Given the description of an element on the screen output the (x, y) to click on. 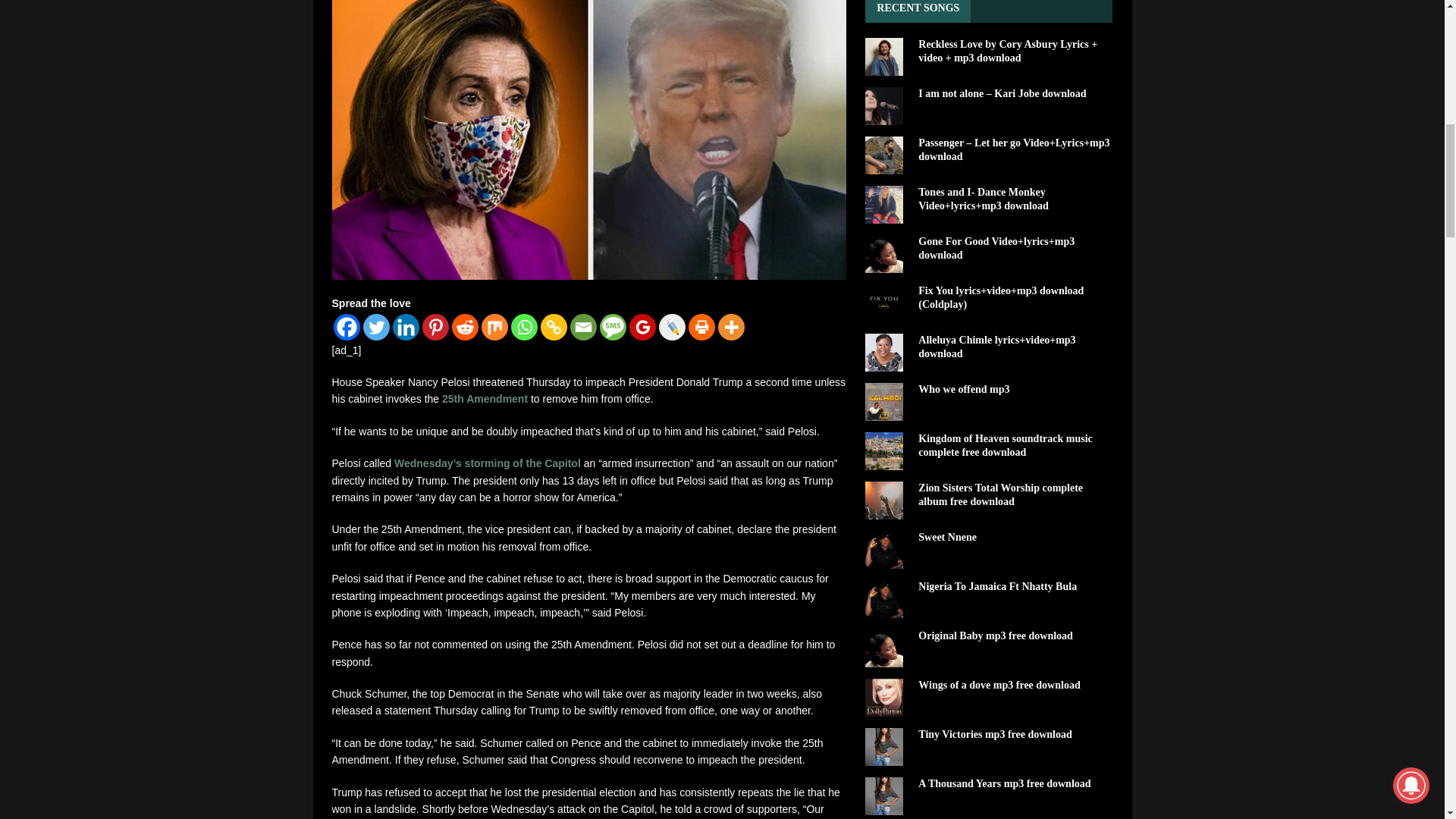
25th Amendment (484, 398)
Copy Link (553, 326)
Facebook (346, 326)
Twitter (375, 326)
SMS (612, 326)
LiveJournal (671, 326)
Whatsapp (524, 326)
Email (583, 326)
Google Bookmarks (642, 326)
Pinterest (435, 326)
Linkedin (406, 326)
Reddit (465, 326)
Mix (493, 326)
